Given the description of an element on the screen output the (x, y) to click on. 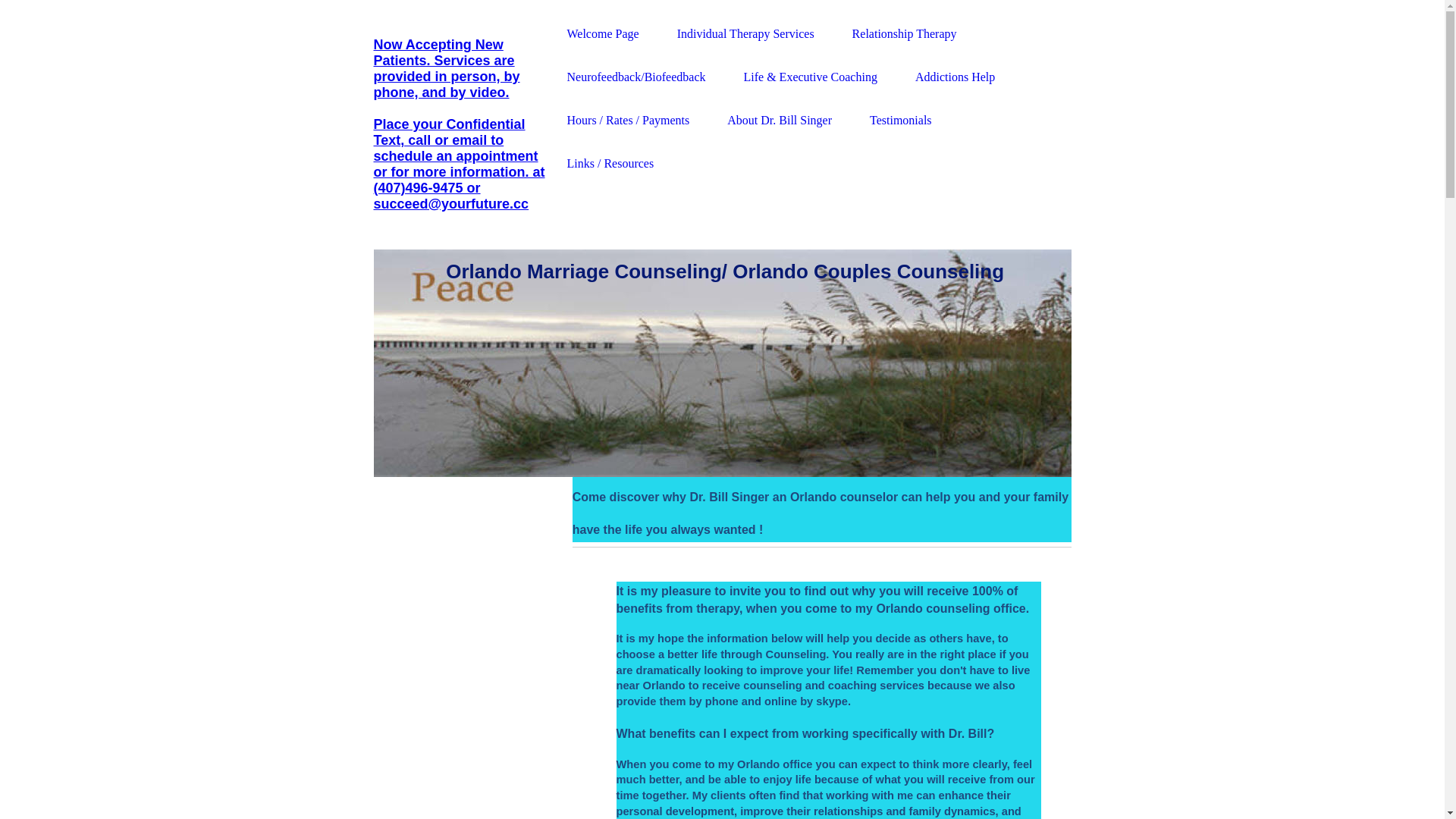
Links / Resources Element type: text (610, 164)
About Dr. Bill Singer Element type: text (779, 120)
Welcome Page Element type: text (603, 33)
Addictions Help Element type: text (955, 76)
Individual Therapy Services Element type: text (745, 33)
Hours / Rates / Payments Element type: text (628, 120)
Relationship Therapy Element type: text (904, 33)
Testimonials Element type: text (900, 120)
Life & Executive Coaching Element type: text (810, 76)
Neurofeedback/Biofeedback Element type: text (636, 76)
